Given the description of an element on the screen output the (x, y) to click on. 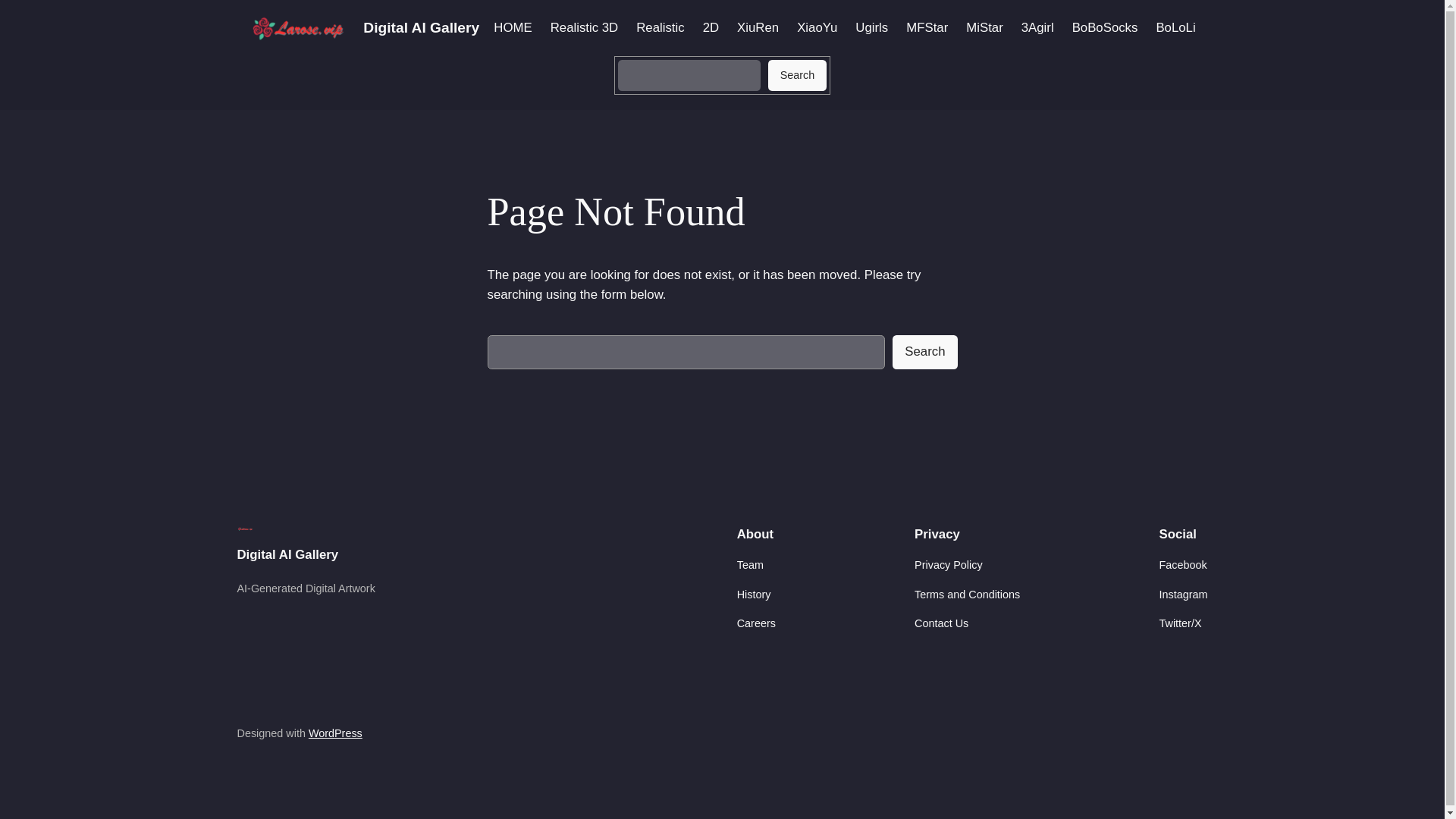
Careers (756, 623)
Privacy Policy (948, 564)
History (753, 594)
Digital AI Gallery (420, 27)
BoBoSocks (1104, 27)
Realistic 3D (584, 27)
Ugirls (872, 27)
WordPress (335, 733)
XiaoYu (816, 27)
Realistic (660, 27)
HOME (512, 27)
Search (797, 75)
Search (924, 351)
3Agirl (1038, 27)
Terms and Conditions (967, 594)
